Given the description of an element on the screen output the (x, y) to click on. 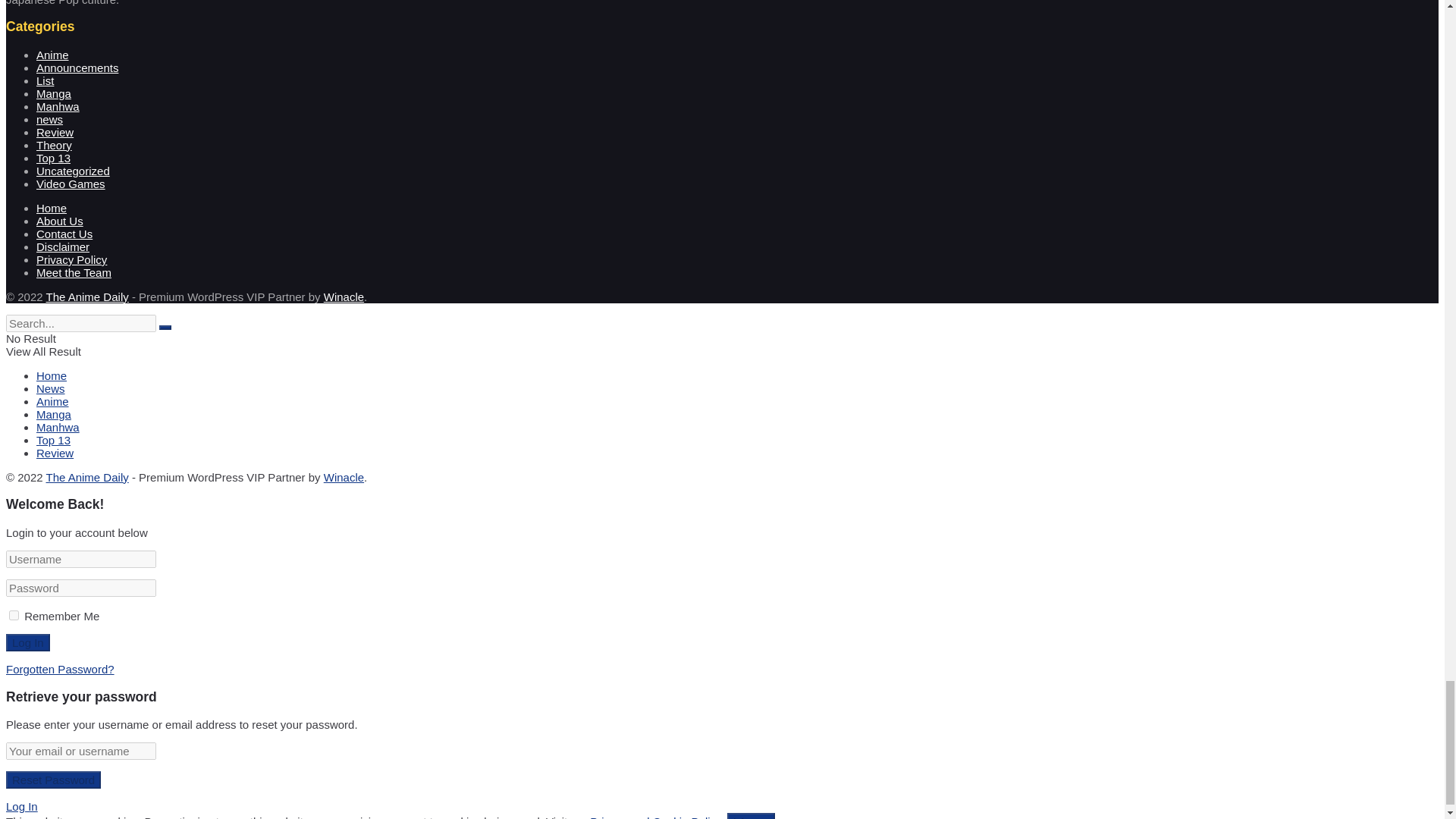
Winacle (343, 296)
true (13, 614)
Reset Password (52, 779)
Winacle (343, 477)
Log In (27, 642)
